Given the description of an element on the screen output the (x, y) to click on. 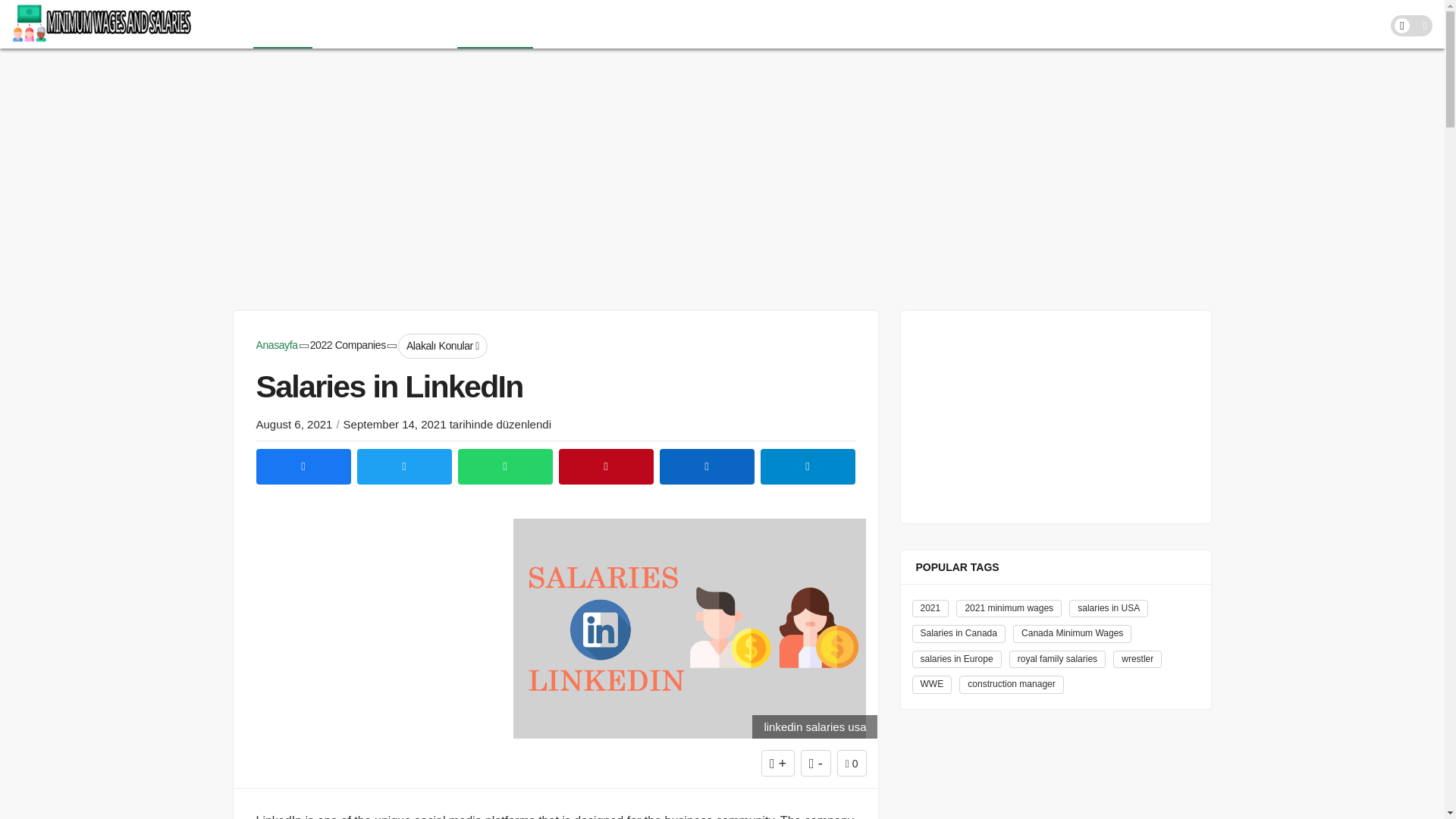
Advertisement (721, 177)
2022 Companies (347, 345)
Advertisement (367, 613)
Companies (494, 24)
- (815, 763)
Anasayfa (277, 345)
0 (851, 763)
Minimum Wages (363, 24)
Home (229, 24)
Salaries (283, 24)
